Given the description of an element on the screen output the (x, y) to click on. 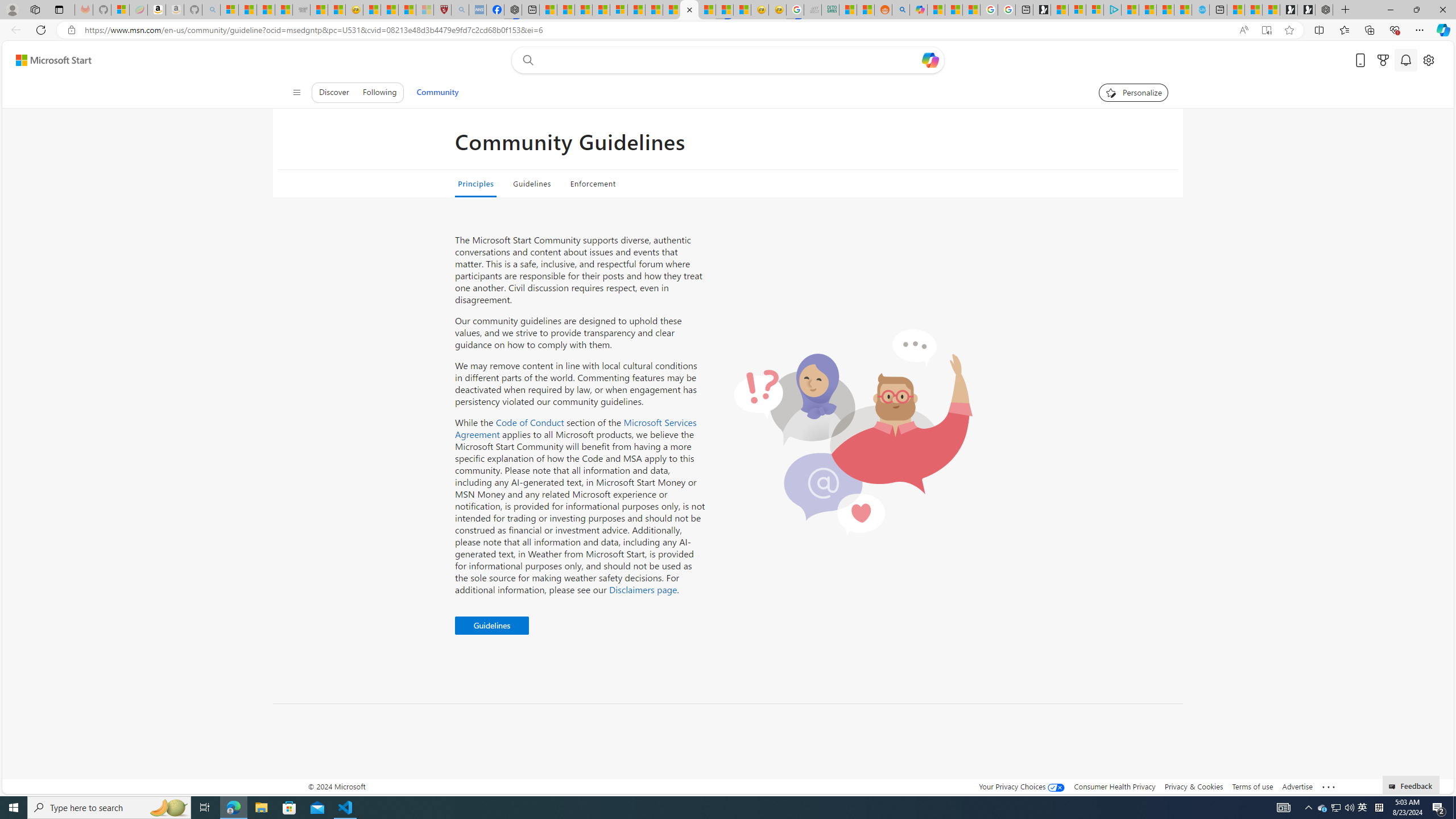
Privacy & Cookies (1193, 785)
Home | Sky Blue Bikes - Sky Blue Bikes (1200, 9)
Restore (1416, 9)
Class: feedback_link_icon-DS-EntryPoint1-1 (1393, 786)
Microsoft Start (53, 60)
New tab (1217, 9)
Open Copilot (930, 59)
Read aloud this page (Ctrl+Shift+U) (1243, 29)
Guidelines (531, 183)
Minimize (1390, 9)
Refresh (40, 29)
Community (437, 92)
Your Privacy Choices (1021, 785)
